Given the description of an element on the screen output the (x, y) to click on. 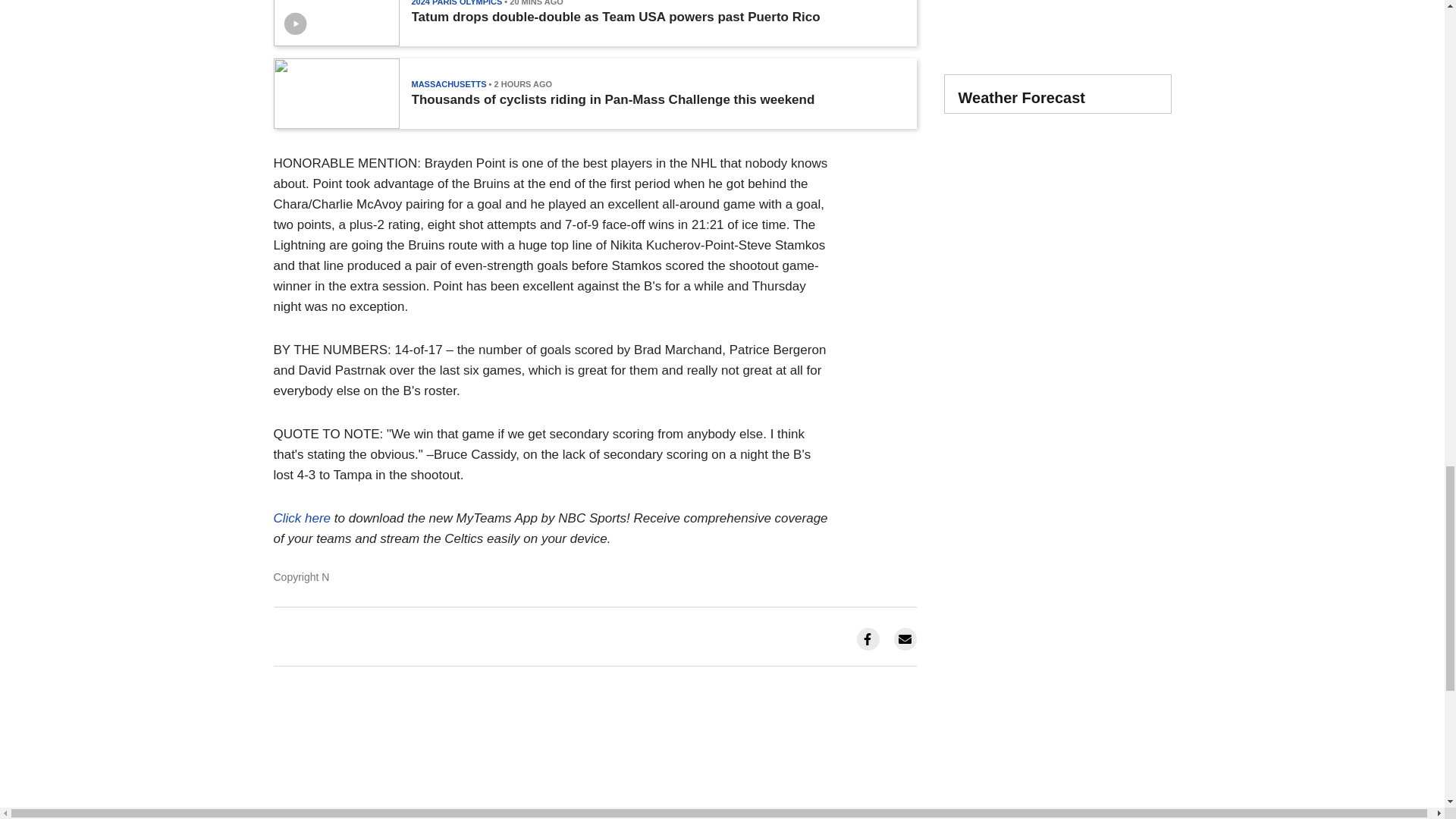
2024 PARIS OLYMPICS (456, 2)
MASSACHUSETTS (448, 83)
Click here (301, 518)
